Given the description of an element on the screen output the (x, y) to click on. 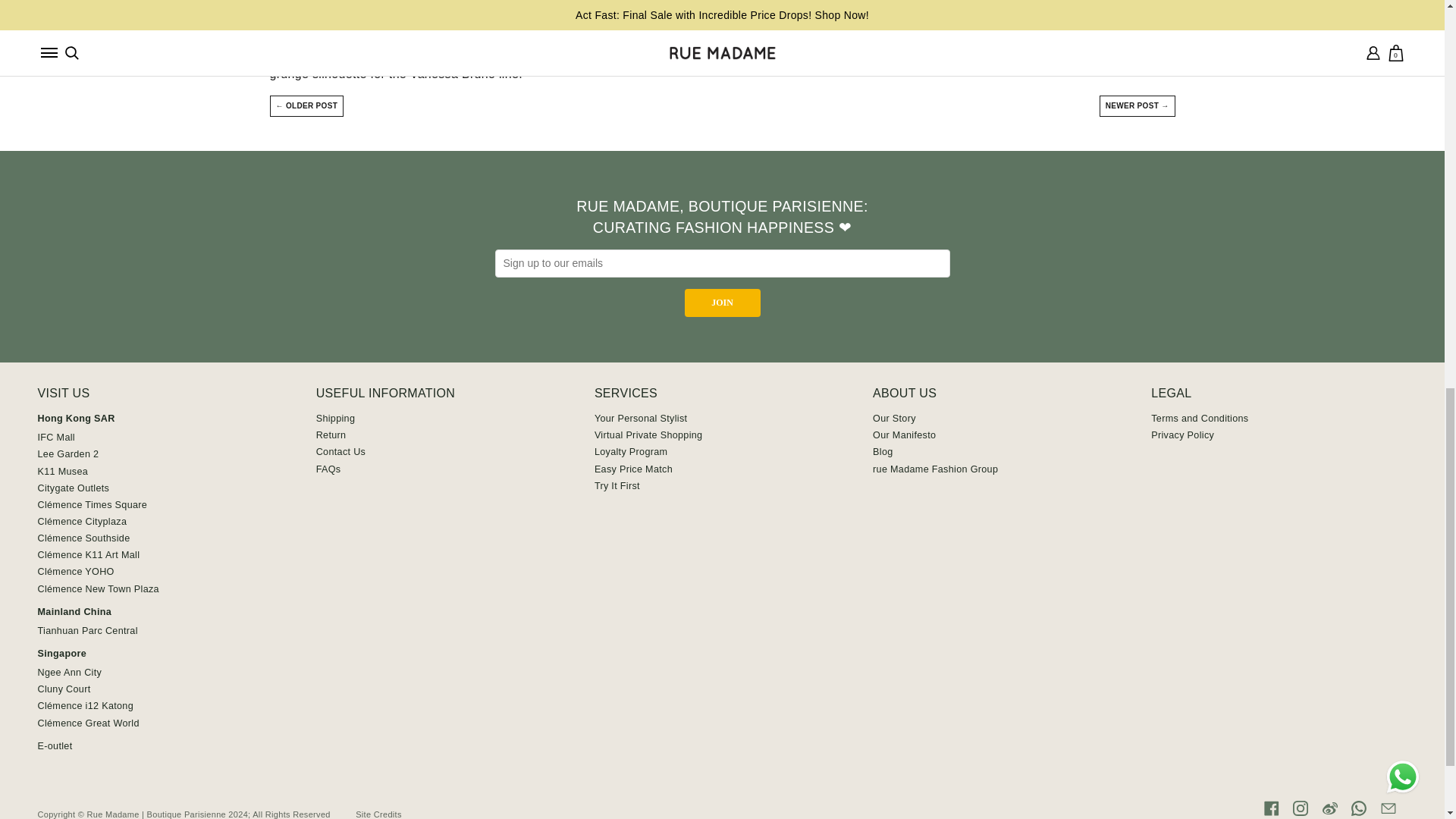
Email (1387, 807)
Instagram (1299, 807)
Whatsapp (1359, 807)
Weibo (1330, 807)
Join (722, 302)
Facebook (1271, 807)
